Given the description of an element on the screen output the (x, y) to click on. 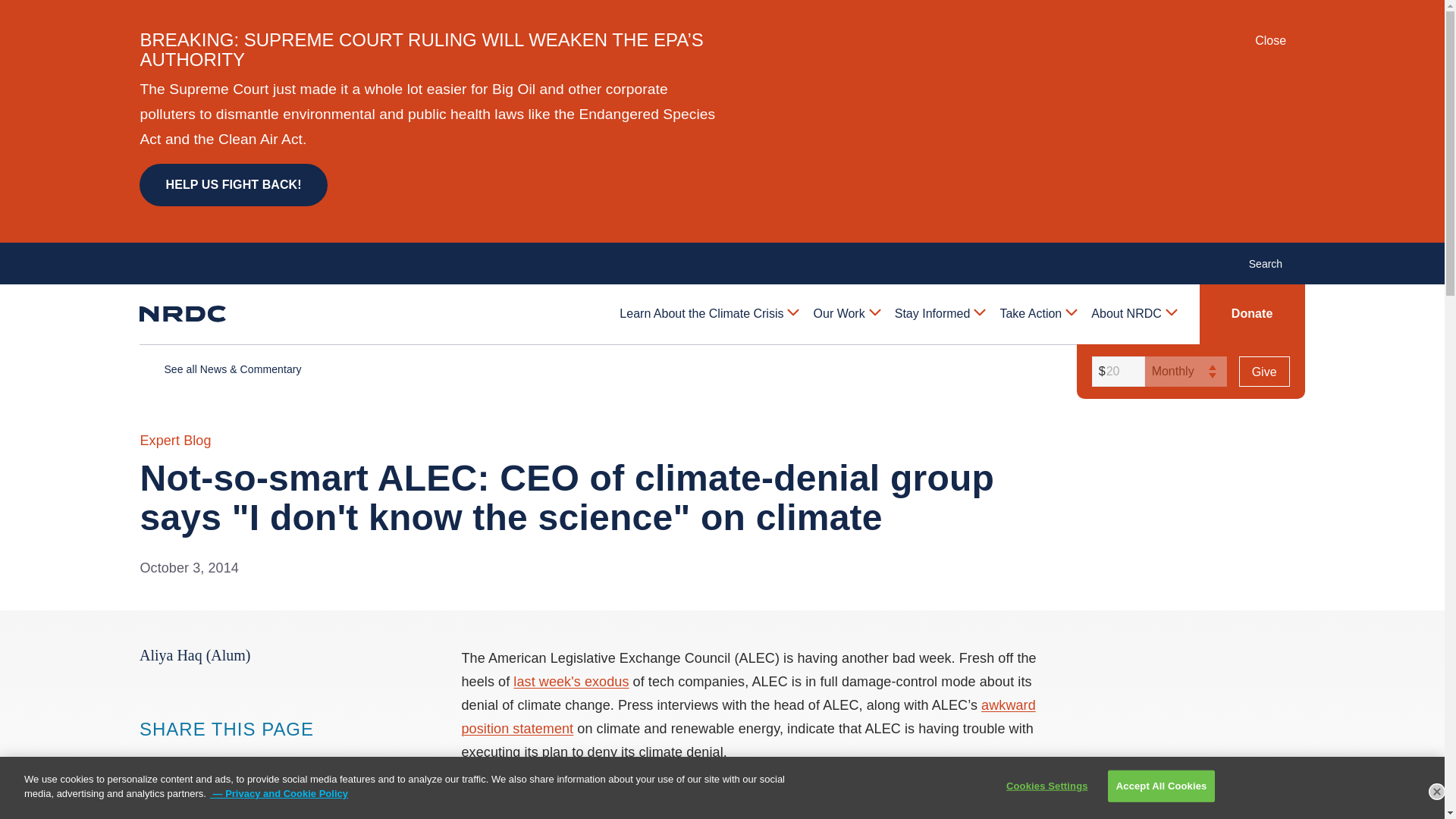
Learn About the Climate Crisis (707, 313)
Search (1273, 262)
Share this page block (149, 758)
2024-06 SCOTUS (1298, 39)
Share this page block (210, 758)
Close 2024-06 SCOTUS (1279, 40)
HELP US FIGHT BACK! (232, 184)
Share this page block (180, 758)
Skip to main content (721, 12)
Our Work (846, 313)
Stay Informed (939, 313)
20 (1116, 371)
